Given the description of an element on the screen output the (x, y) to click on. 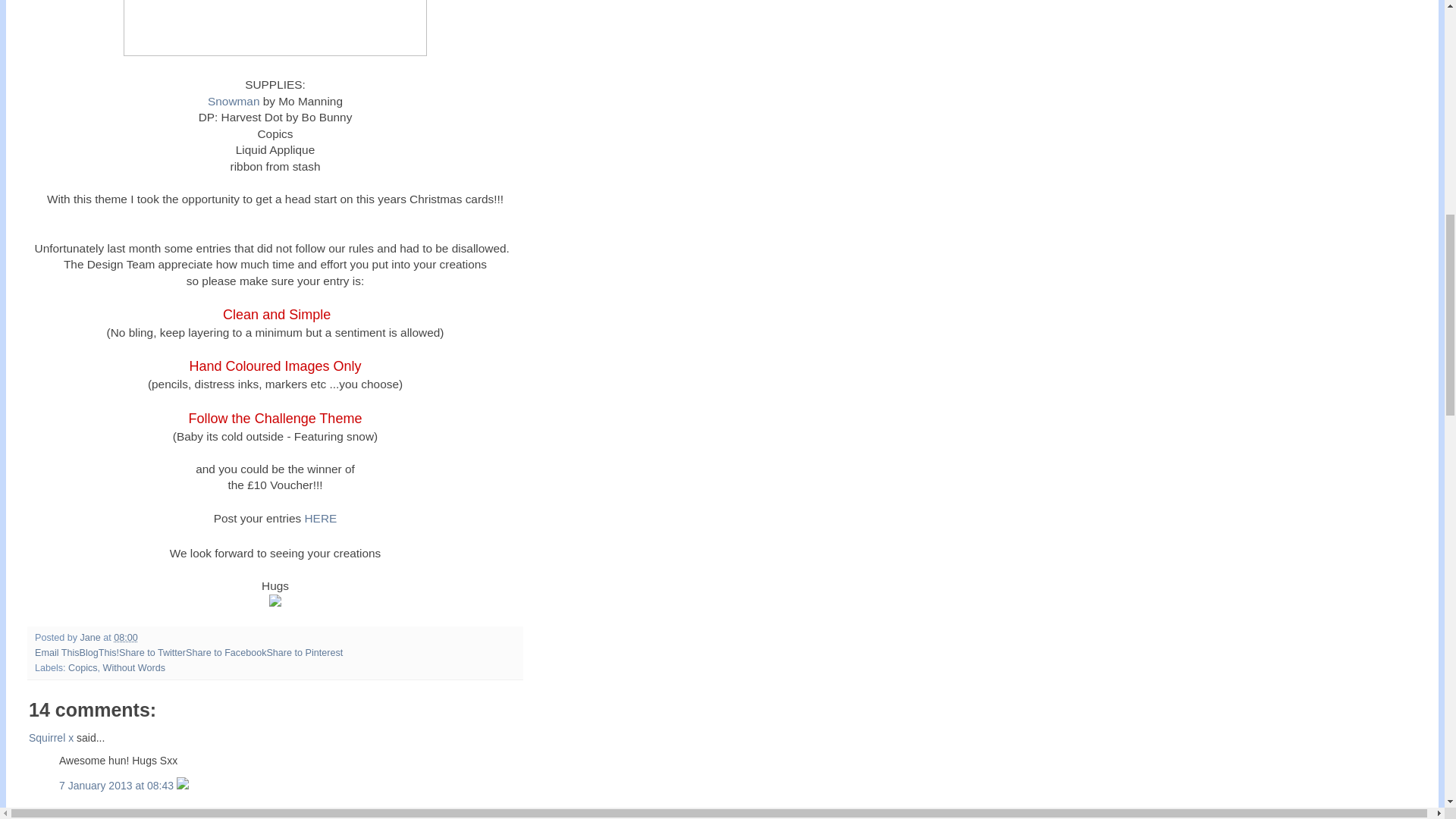
Share to Pinterest (304, 652)
permanent link (125, 637)
author profile (91, 637)
Jane (91, 637)
08:00 (125, 637)
Share to Facebook (226, 652)
Email This (57, 652)
Email This (57, 652)
7 January 2013 at 08:43 (117, 785)
HERE (320, 517)
